Given the description of an element on the screen output the (x, y) to click on. 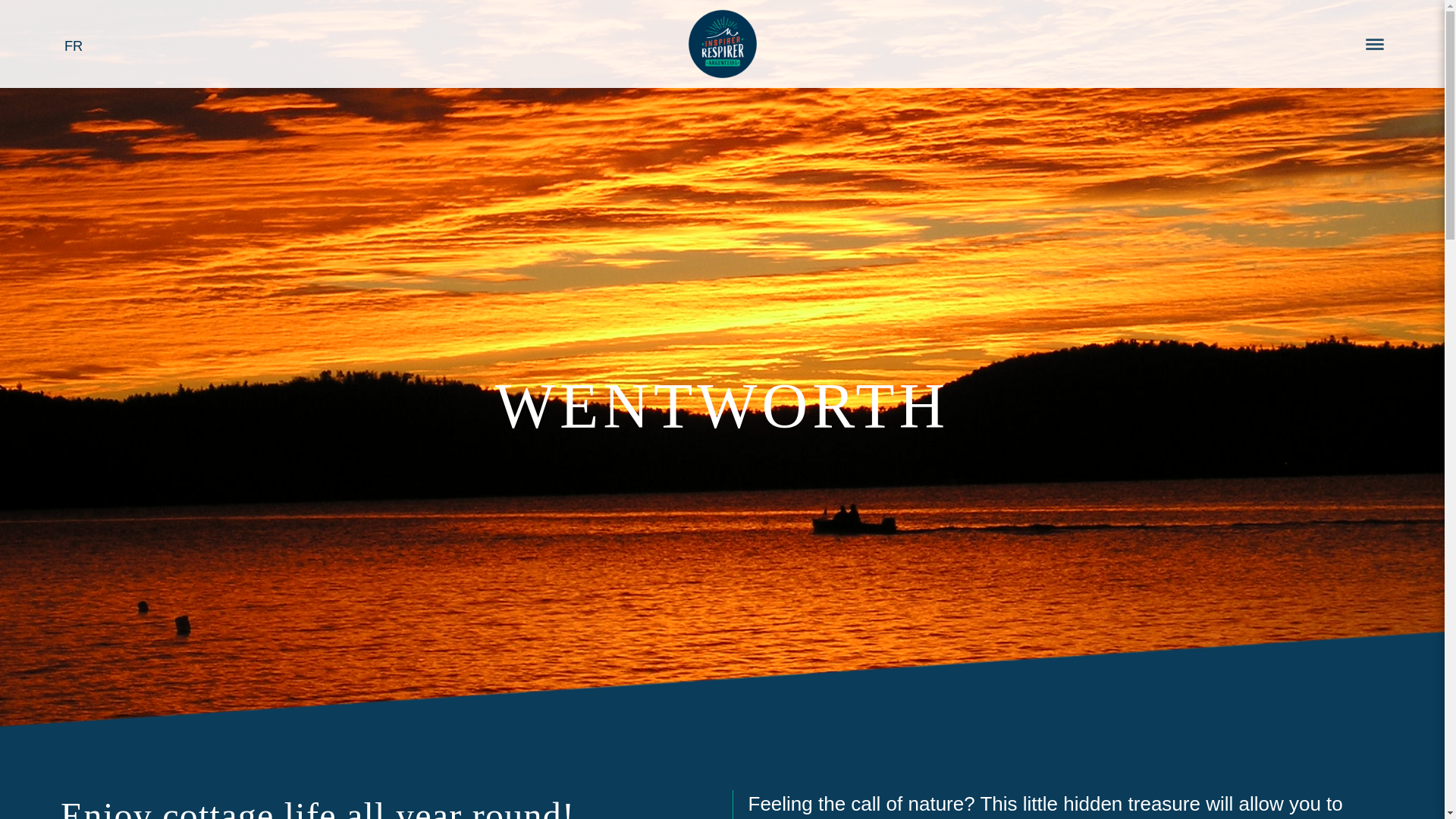
FR (73, 46)
